Given the description of an element on the screen output the (x, y) to click on. 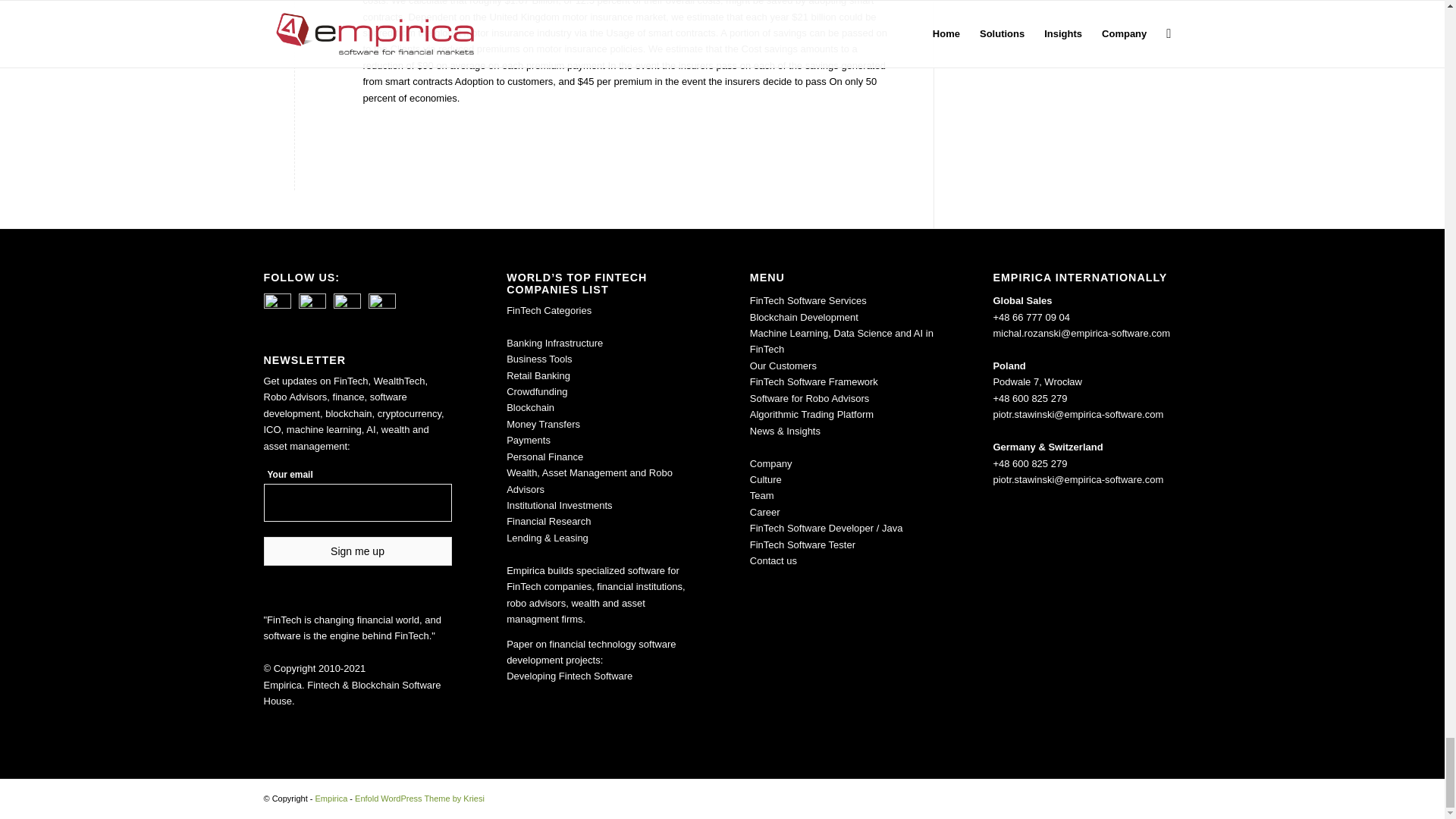
Sign me up (357, 551)
